Given the description of an element on the screen output the (x, y) to click on. 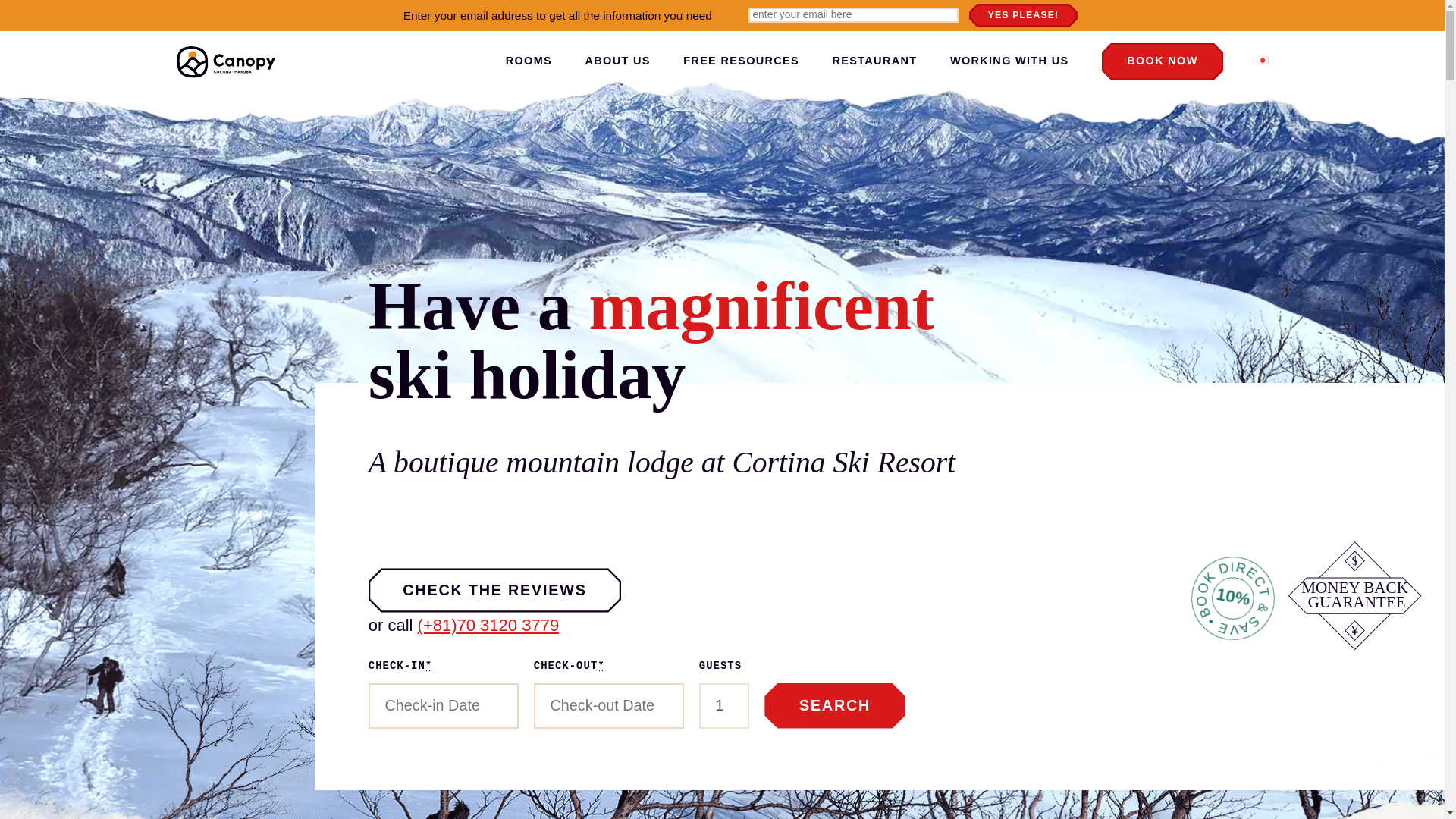
BOOK NOW (1162, 61)
FREE RESOURCES (740, 61)
WORKING WITH US (1009, 61)
ABOUT US (617, 62)
YES PLEASE! (1023, 15)
ROOMS (528, 62)
Search (834, 705)
RESTAURANT (874, 61)
MONEY BACK GUARANTEE (1355, 595)
CHECK THE REVIEWS (494, 589)
Search (834, 705)
